Given the description of an element on the screen output the (x, y) to click on. 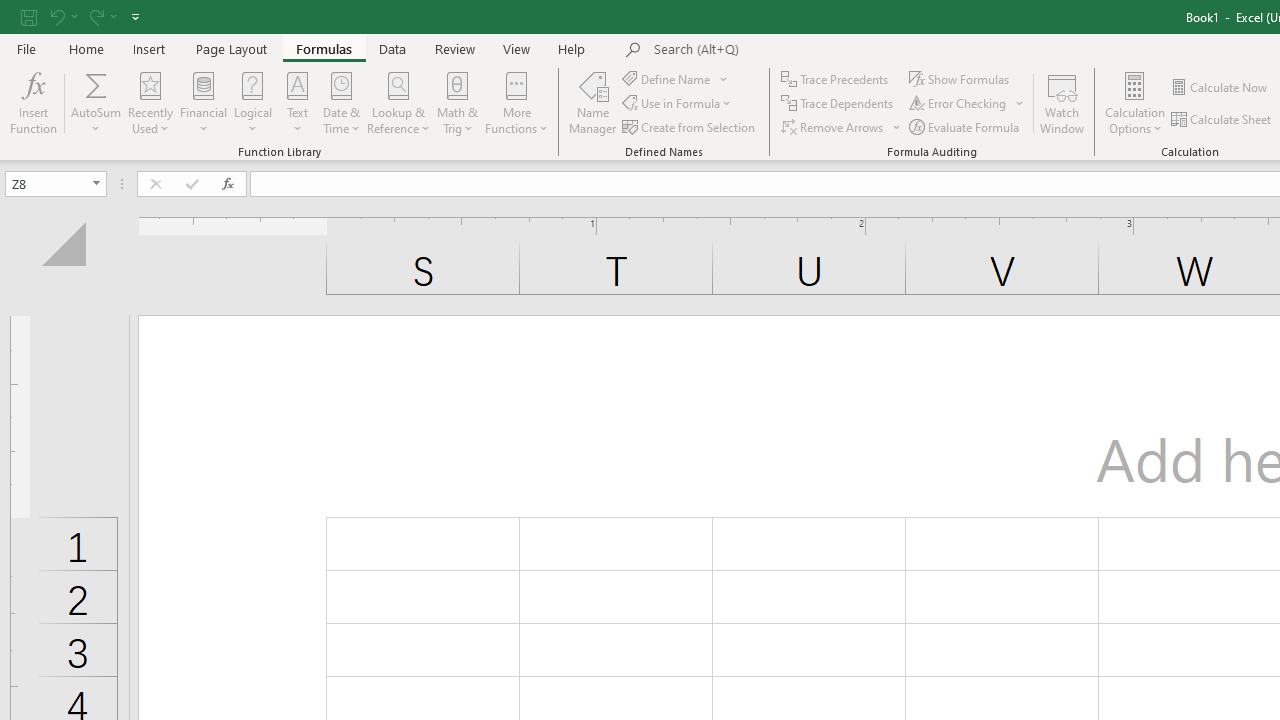
Math & Trig (458, 102)
Error Checking... (959, 103)
Show Formulas (961, 78)
Name Manager (593, 102)
Define Name (676, 78)
Create from Selection... (690, 126)
Recently Used (150, 102)
Date & Time (342, 102)
Text (297, 102)
